Given the description of an element on the screen output the (x, y) to click on. 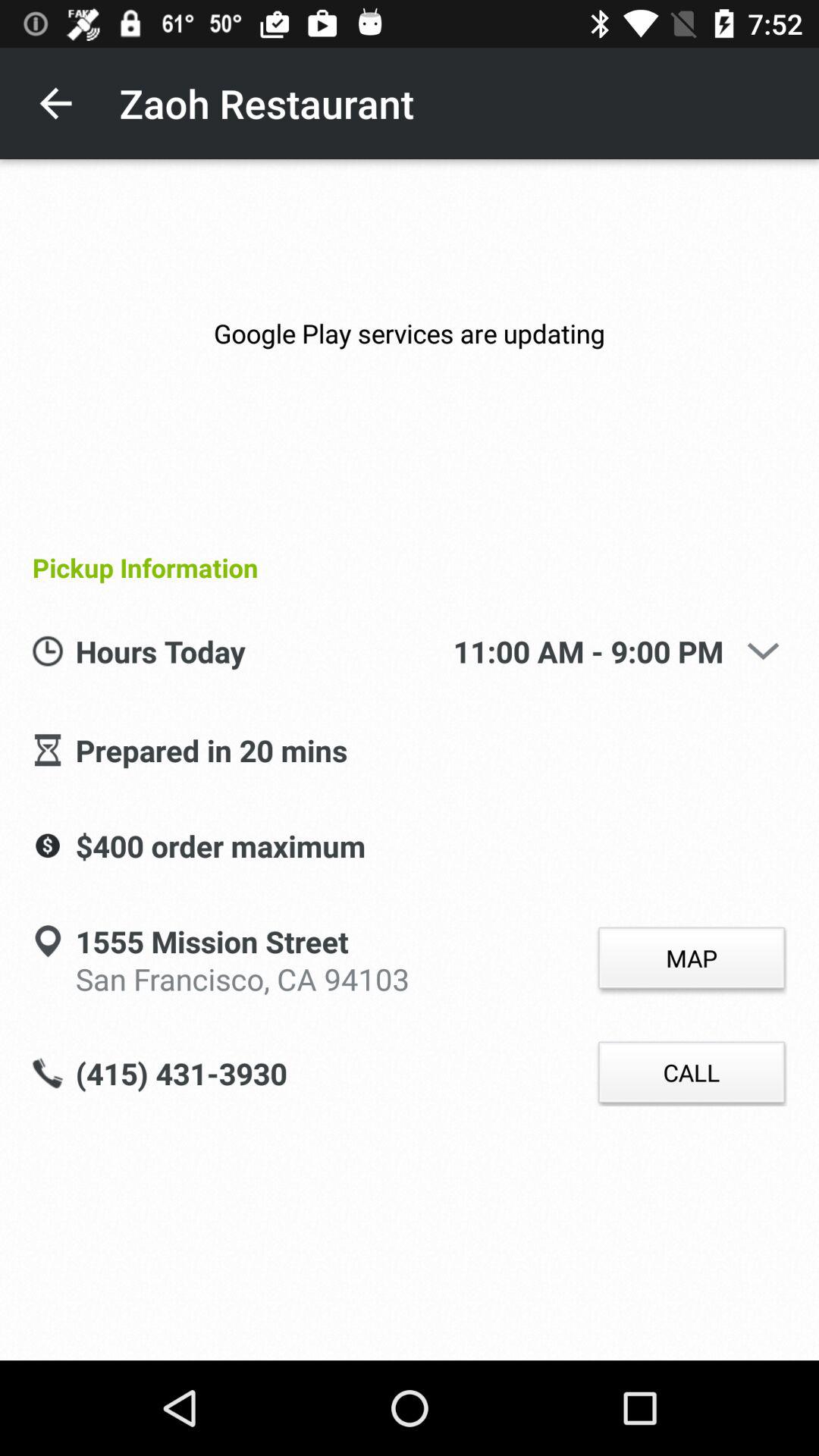
choose icon next to zaoh restaurant item (55, 103)
